Given the description of an element on the screen output the (x, y) to click on. 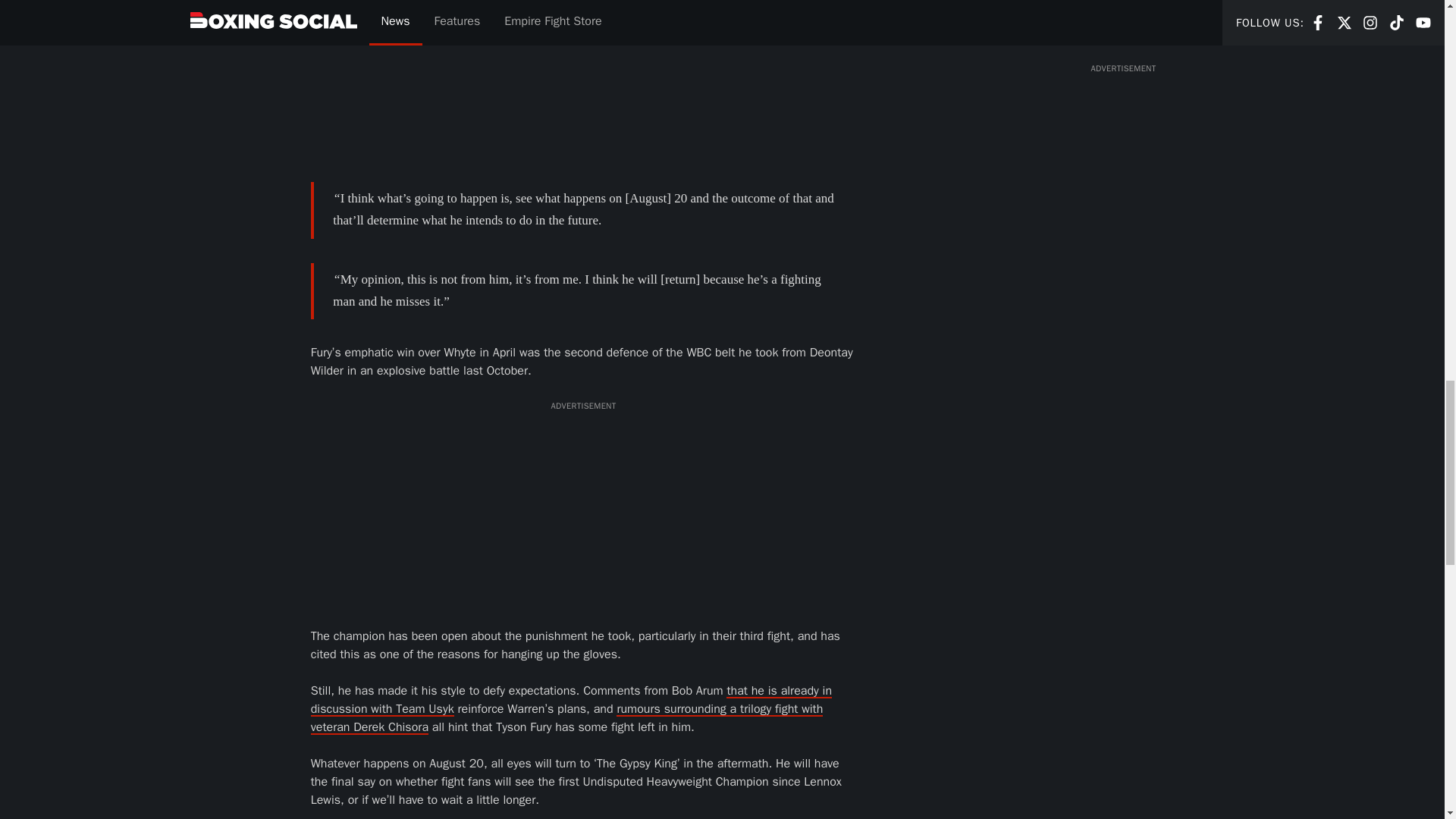
that he is already in discussion with Team Usyk (571, 699)
